Given the description of an element on the screen output the (x, y) to click on. 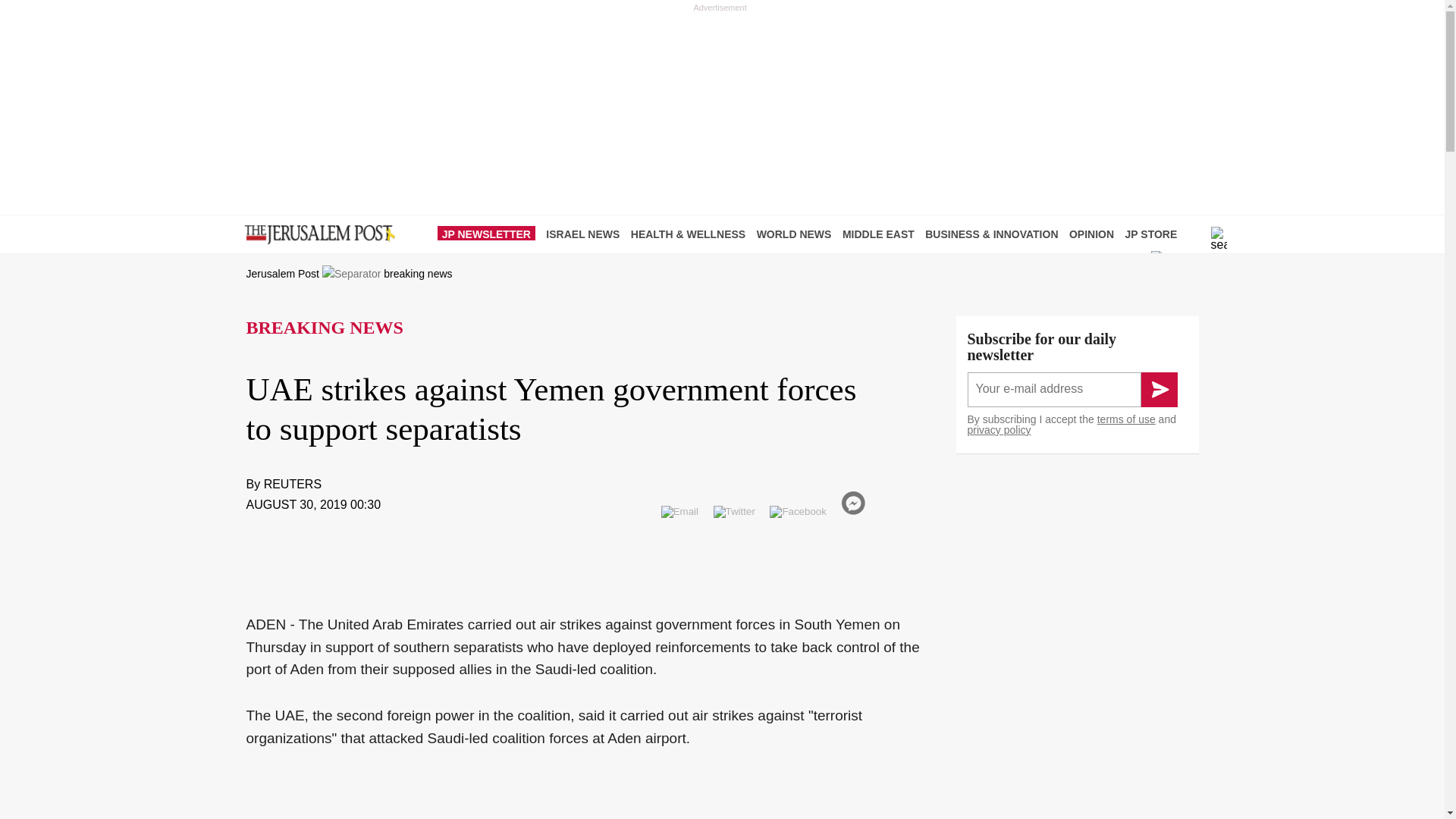
JP NEWSLETTER (490, 234)
ISRAEL NEWS (586, 234)
breaking news (417, 273)
Jerusalem Post (282, 273)
MIDDLE EAST (882, 234)
WORLD NEWS (798, 234)
The Jerusalem Post Logo - Bring them home now (316, 235)
